Given the description of an element on the screen output the (x, y) to click on. 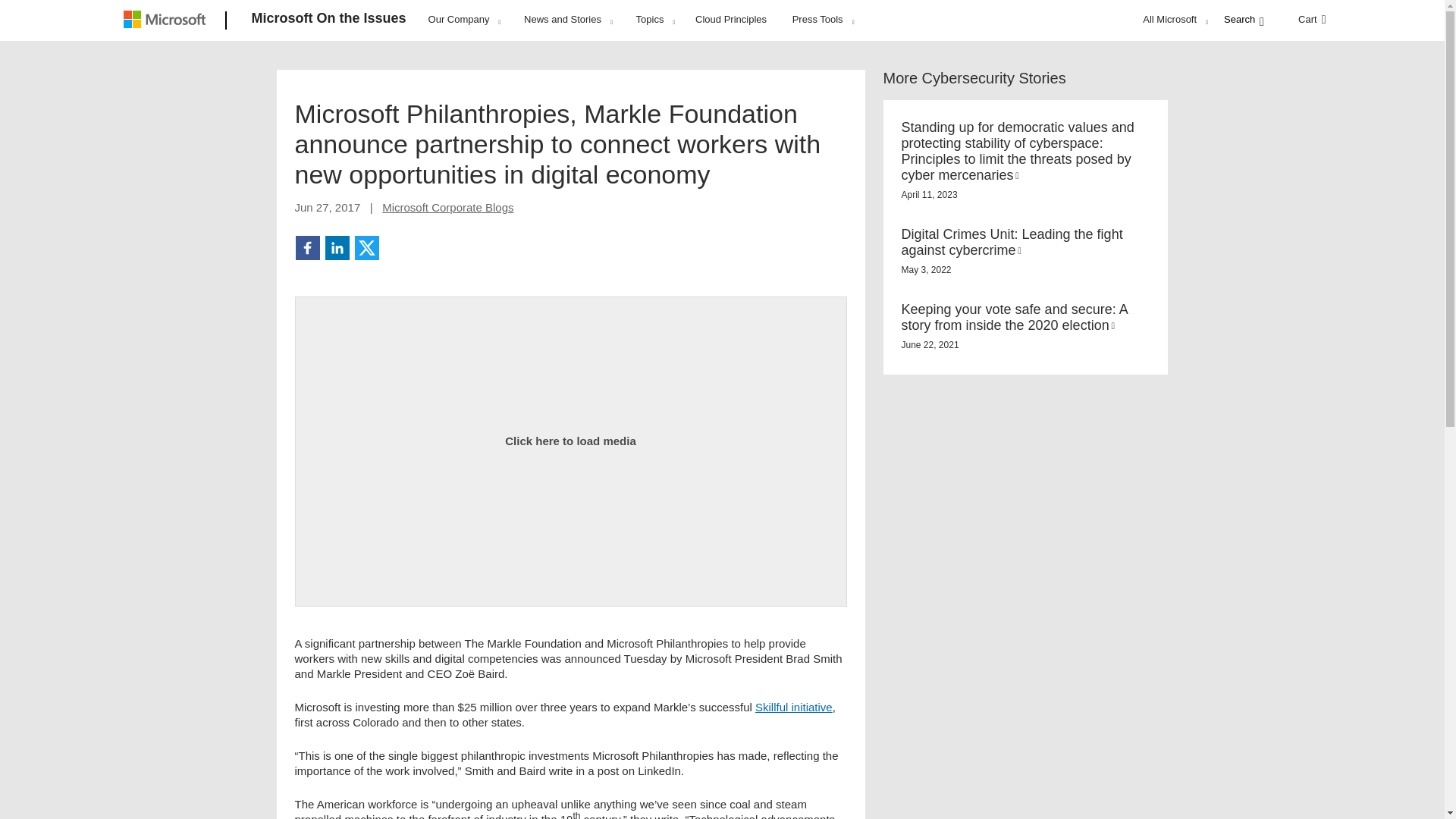
June 27, 2017 (326, 206)
News and Stories (567, 18)
Microsoft (167, 20)
Our Company (463, 18)
Microsoft On the Issues (328, 20)
